Given the description of an element on the screen output the (x, y) to click on. 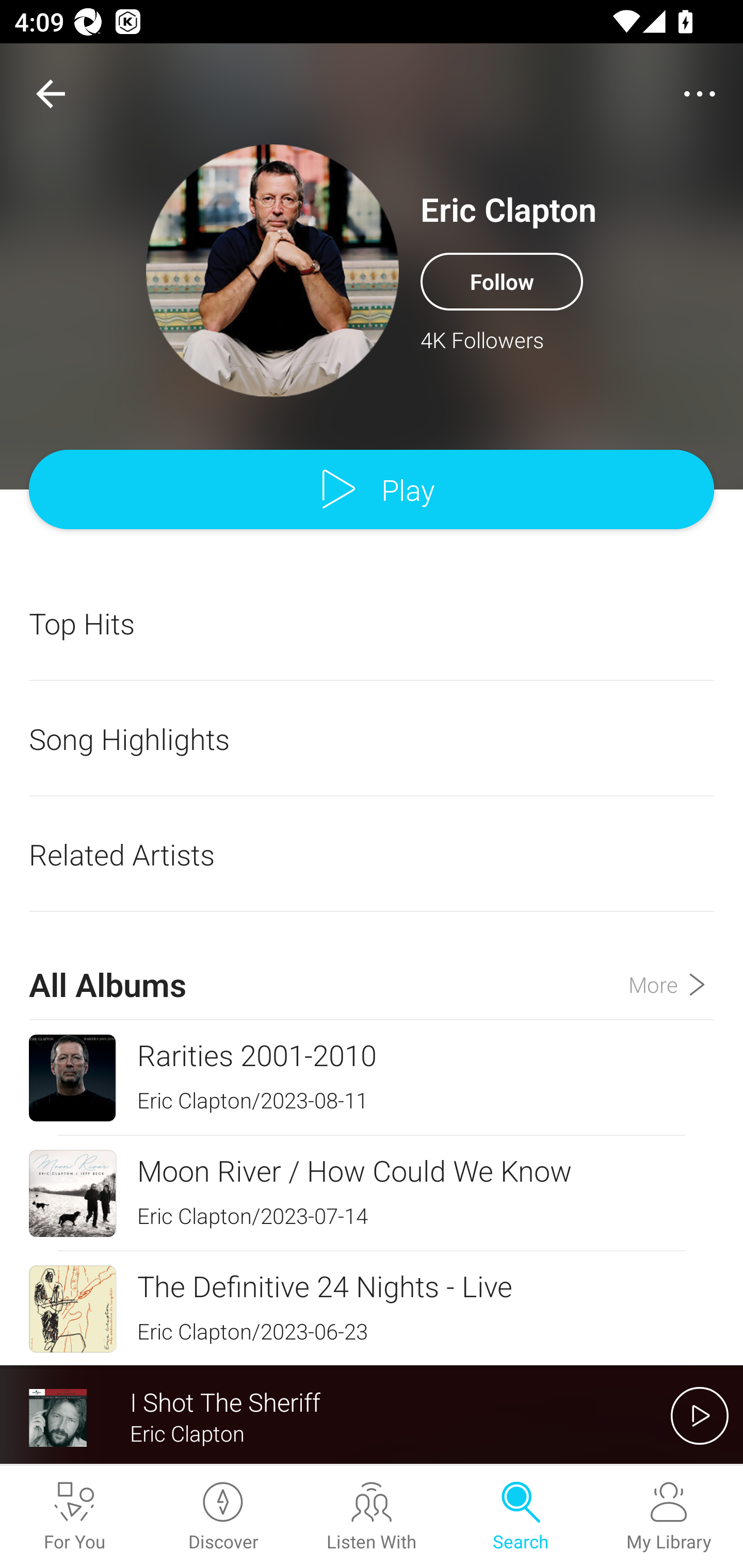
overflow (699, 93)
view_artist_avatar (272, 270)
Follow button_subscription (501, 281)
Play (371, 489)
Top Hits (371, 623)
Song Highlights (371, 738)
Related Artists (371, 854)
All Albums More (371, 966)
Rarities 2001-2010 Eric Clapton/2023-08-11 (371, 1077)
開始播放 (699, 1415)
For You (74, 1517)
Discover (222, 1517)
Listen With (371, 1517)
Search (519, 1517)
My Library (668, 1517)
